Given the description of an element on the screen output the (x, y) to click on. 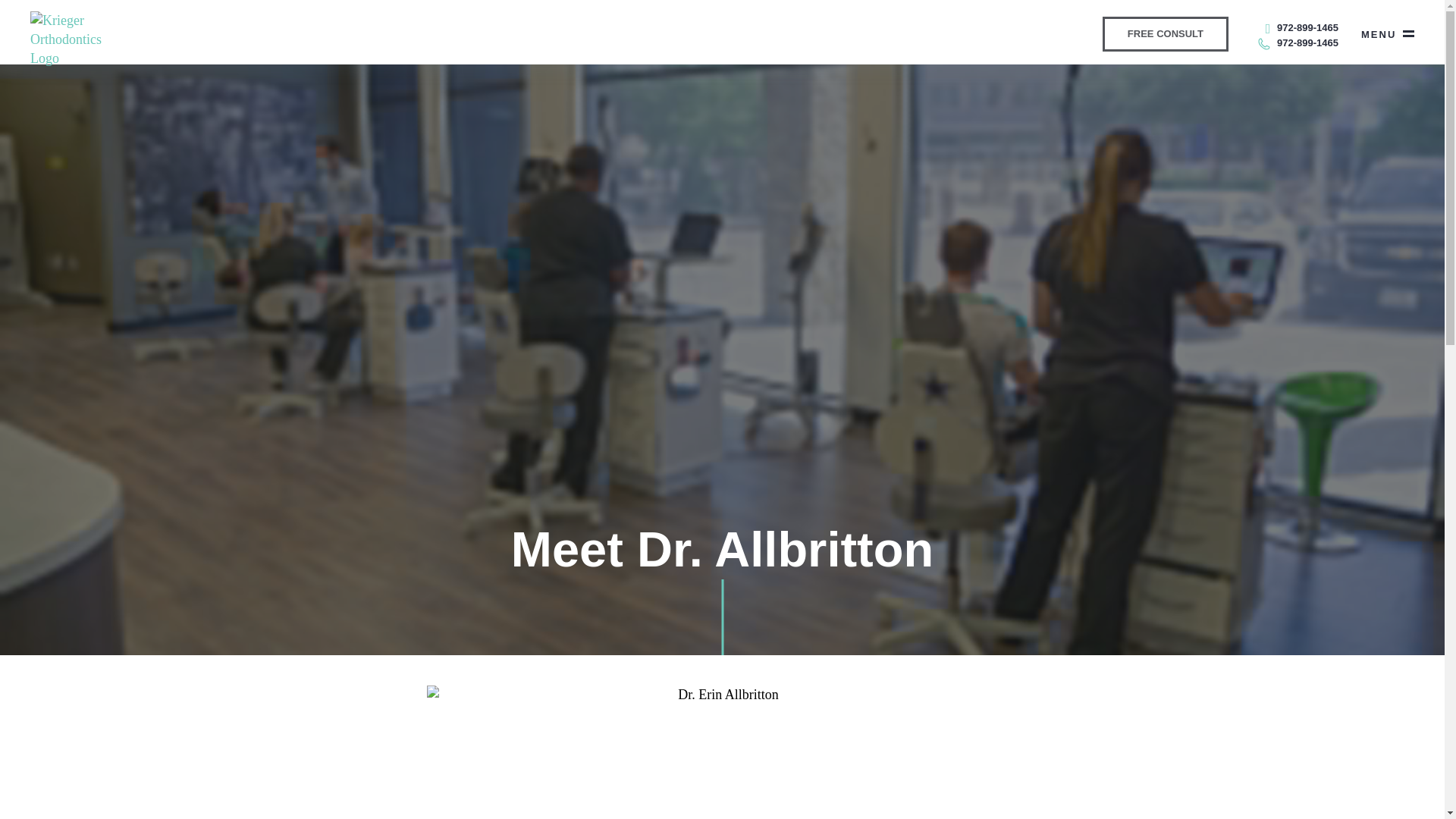
dr-michael-rasmussen (721, 752)
MENU (1387, 33)
FREE CONSULT (1165, 33)
972-899-1465 (1297, 42)
972-899-1465 (1301, 27)
